Given the description of an element on the screen output the (x, y) to click on. 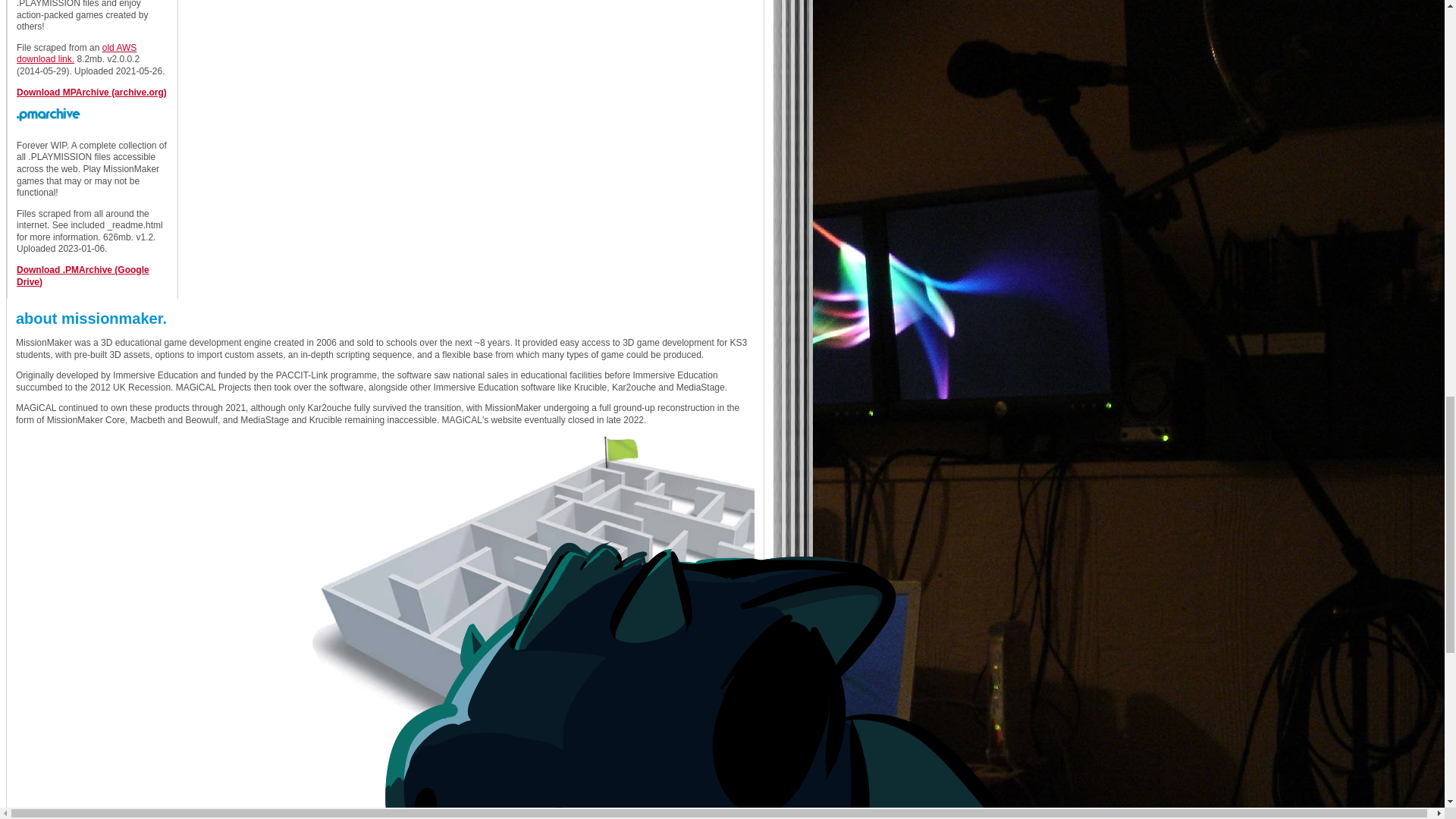
old AWS download link. (76, 53)
